Given the description of an element on the screen output the (x, y) to click on. 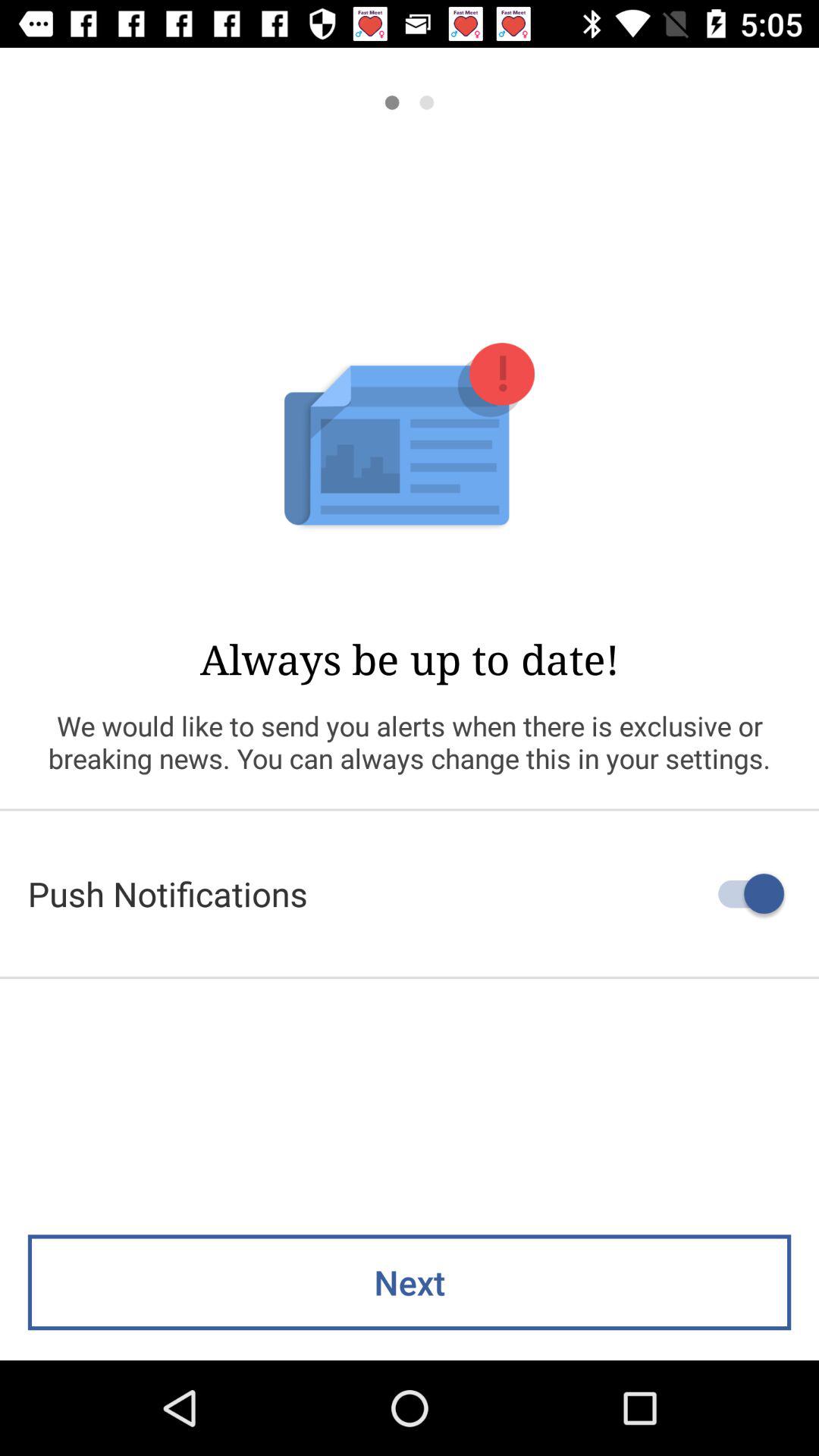
jump until the push notifications item (409, 893)
